Given the description of an element on the screen output the (x, y) to click on. 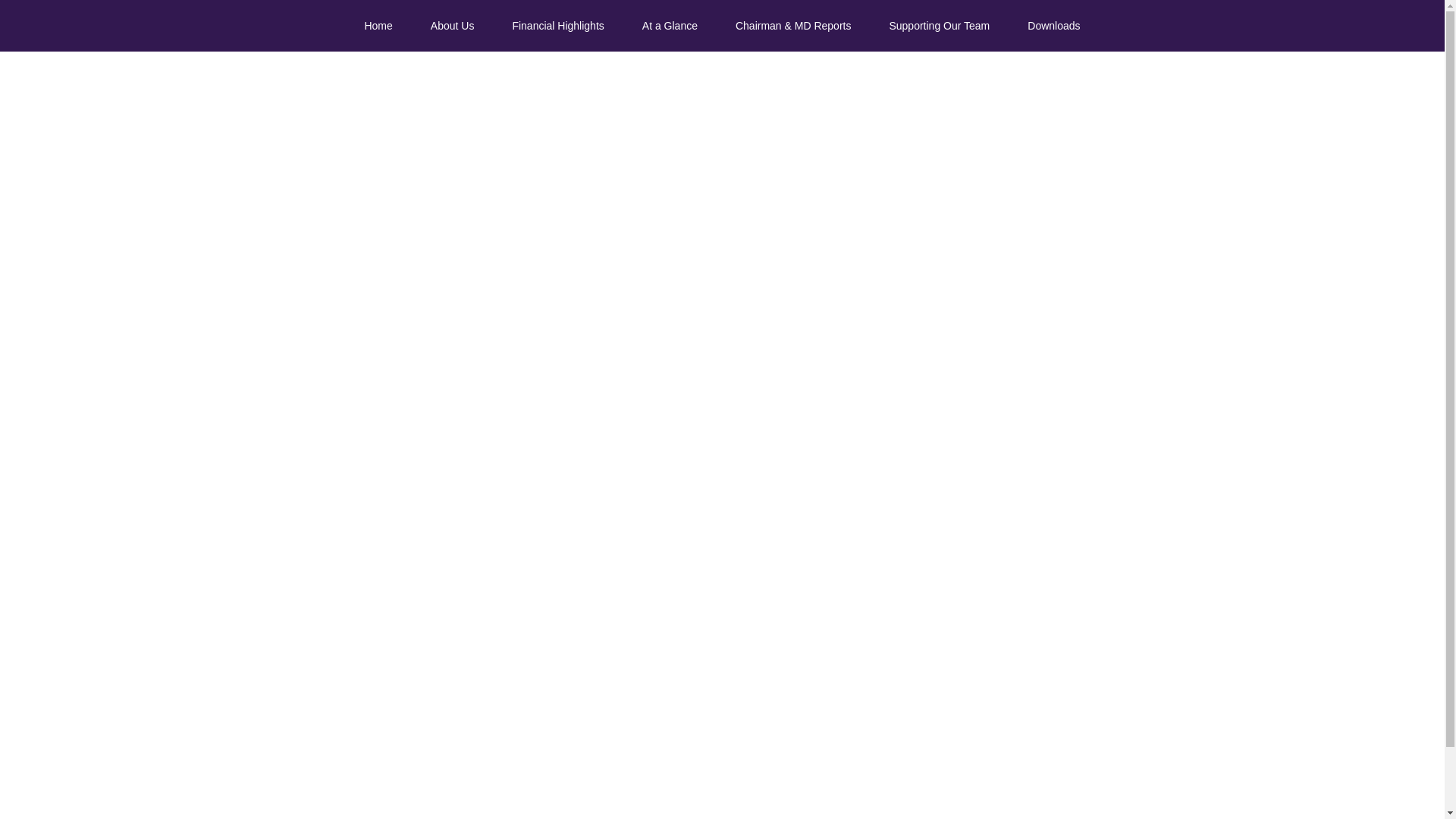
Downloads (1054, 25)
Supporting Our Team (939, 25)
Home (377, 25)
About Us (452, 25)
Financial Highlights (558, 25)
At a Glance (669, 25)
